Given the description of an element on the screen output the (x, y) to click on. 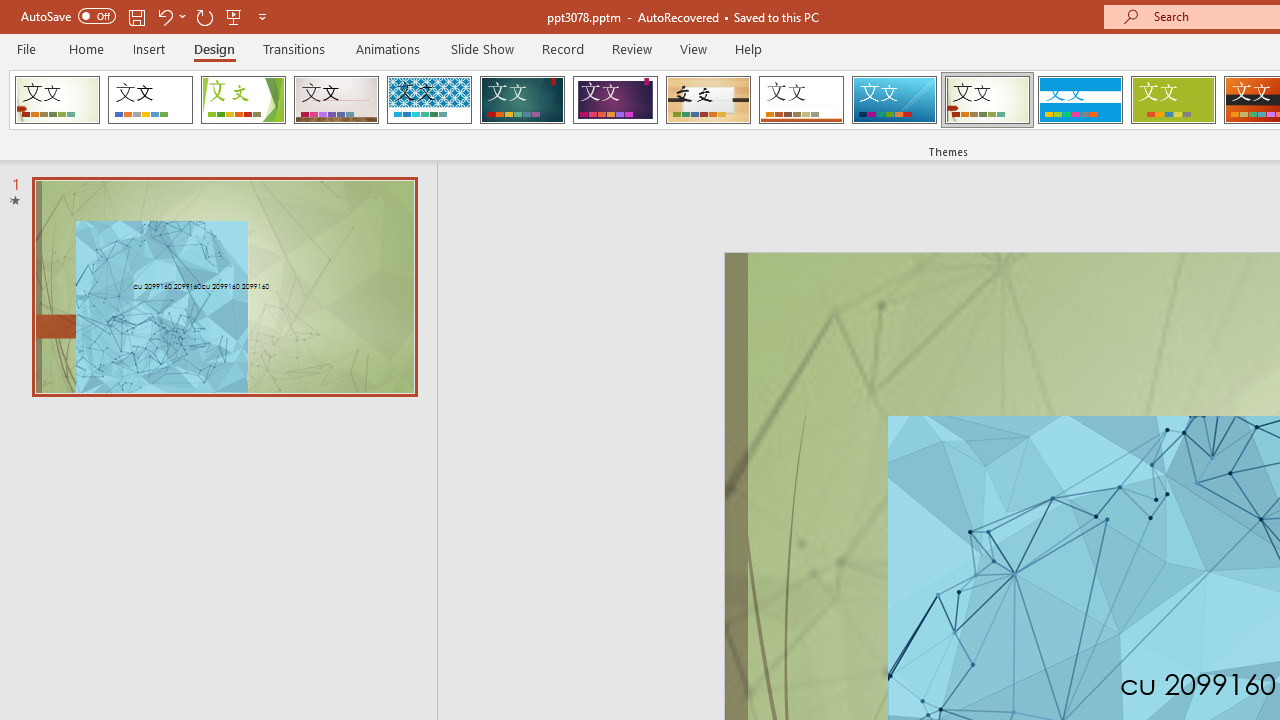
Banded Loading Preview... (1080, 100)
